Given the description of an element on the screen output the (x, y) to click on. 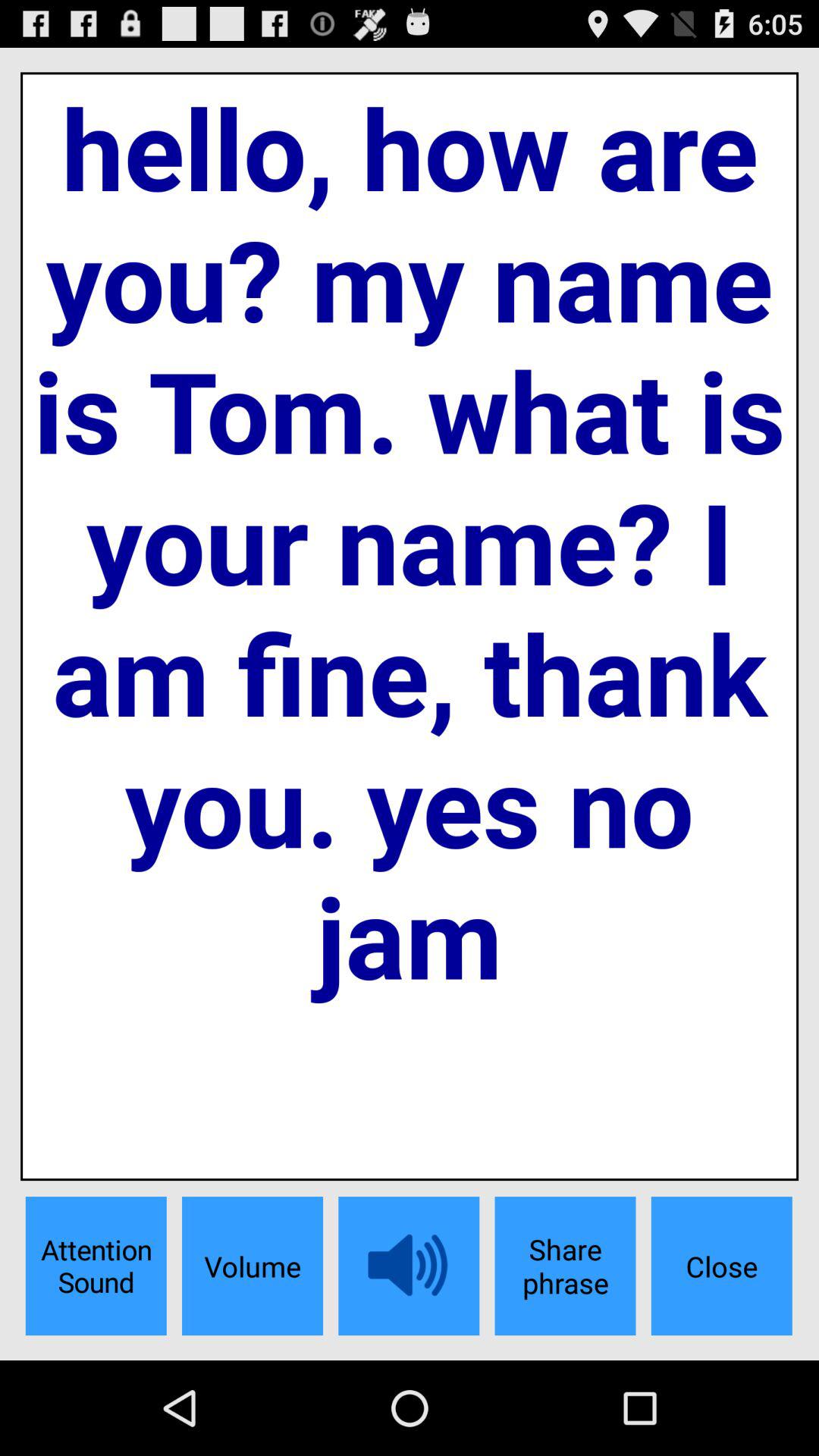
open the app below the hello how are item (721, 1265)
